Given the description of an element on the screen output the (x, y) to click on. 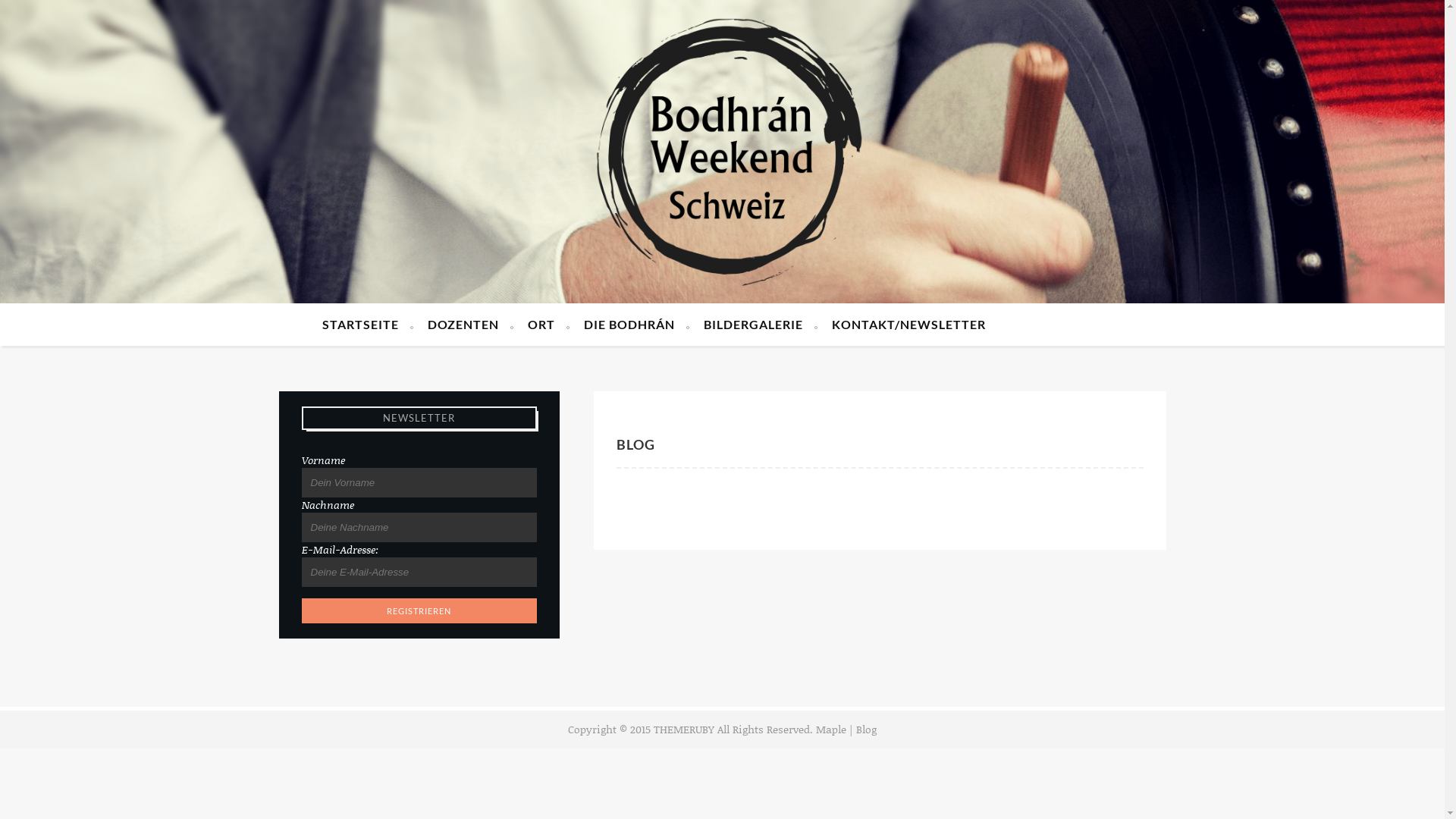
ORT Element type: text (548, 324)
DOZENTEN Element type: text (470, 324)
BILDERGALERIE Element type: text (760, 324)
STARTSEITE Element type: text (367, 324)
Registrieren Element type: text (418, 610)
KONTAKT/NEWSLETTER Element type: text (908, 324)
